Given the description of an element on the screen output the (x, y) to click on. 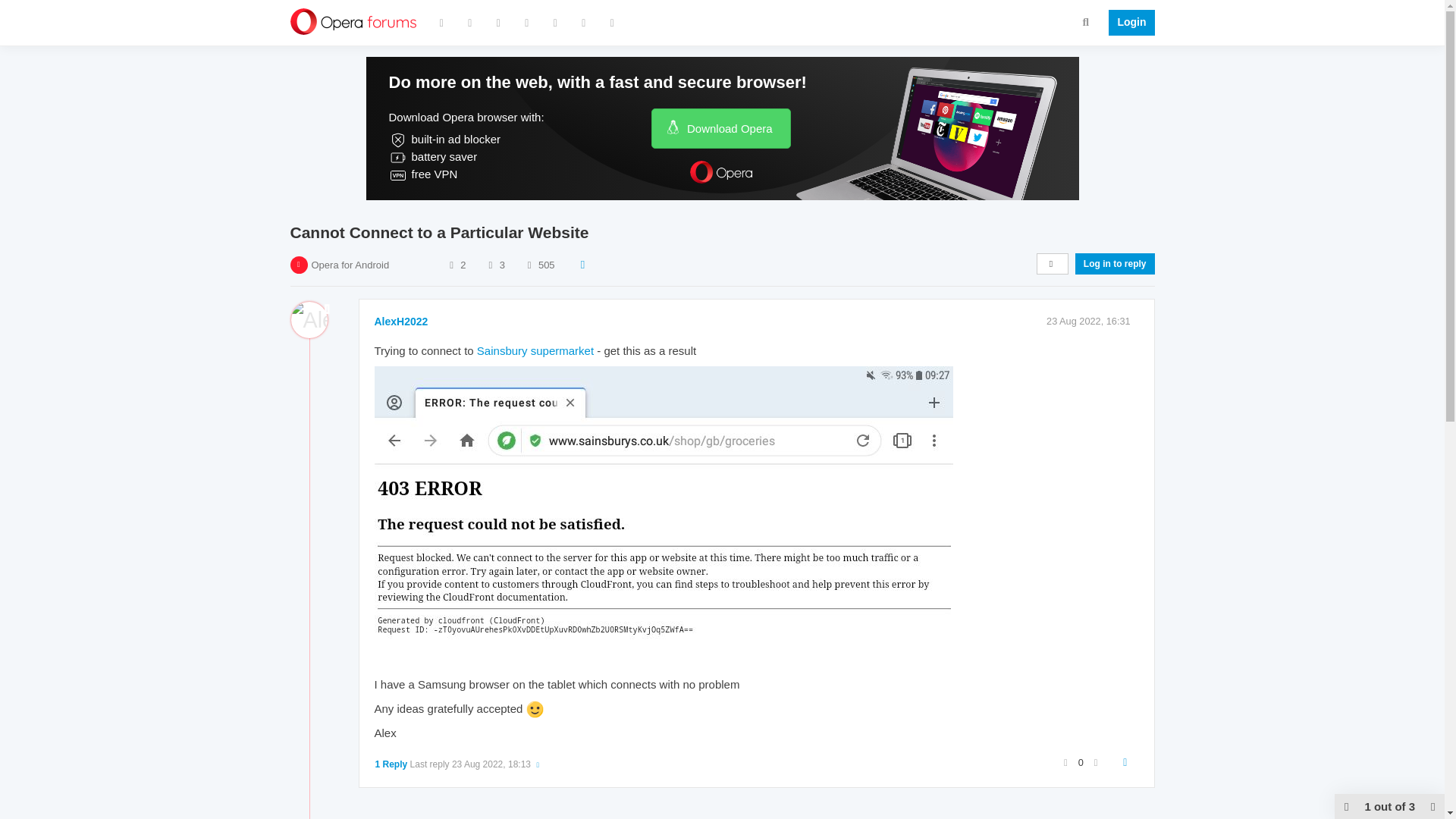
Login (1127, 22)
Download Opera (720, 128)
23 Aug 2022, 16:31 (1088, 320)
AlexH2022 (401, 321)
Opera for Android (349, 265)
Log in to reply (1114, 263)
Search (1085, 21)
